Given the description of an element on the screen output the (x, y) to click on. 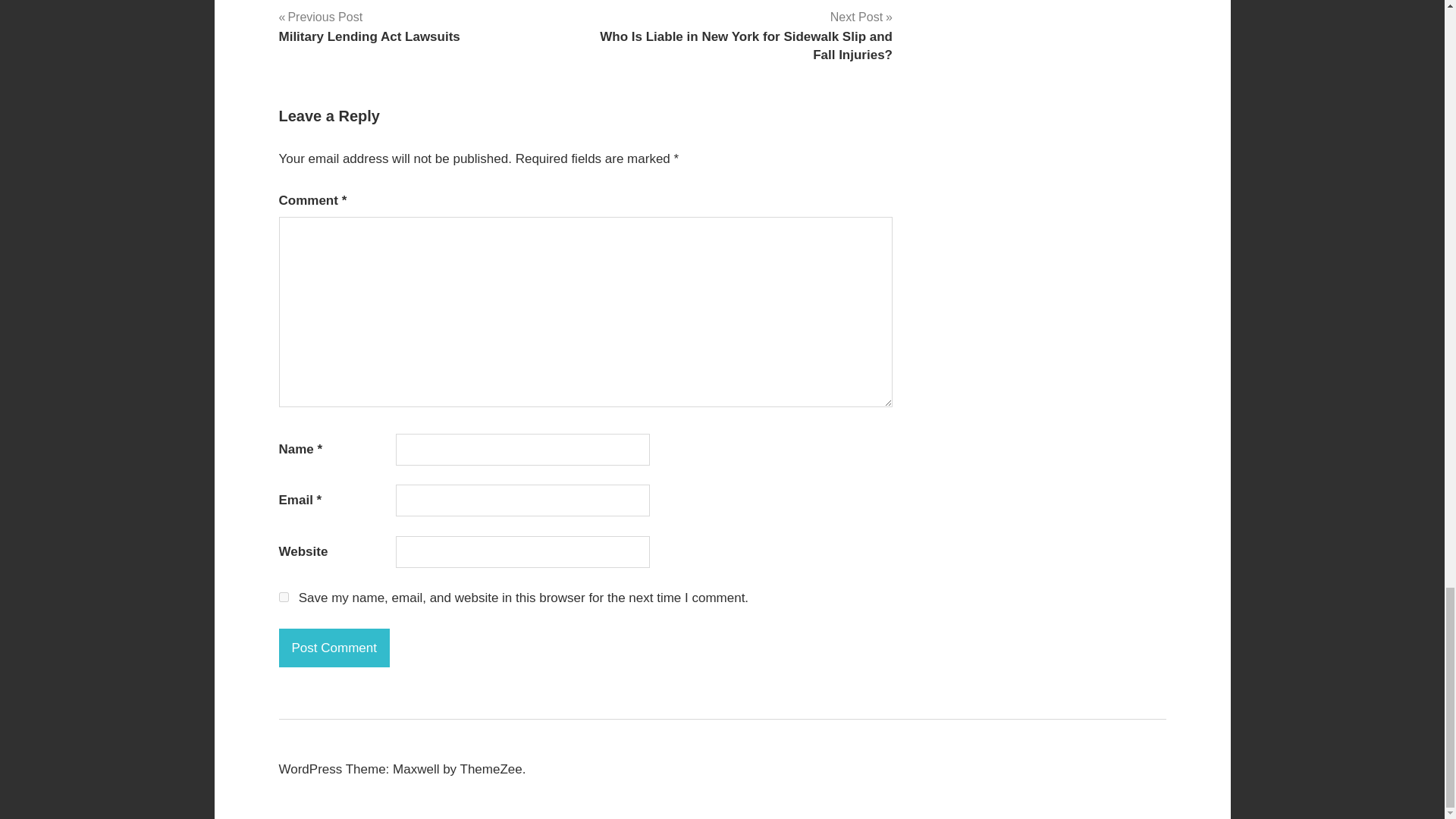
Post Comment (334, 647)
Post Comment (369, 25)
yes (334, 647)
